Given the description of an element on the screen output the (x, y) to click on. 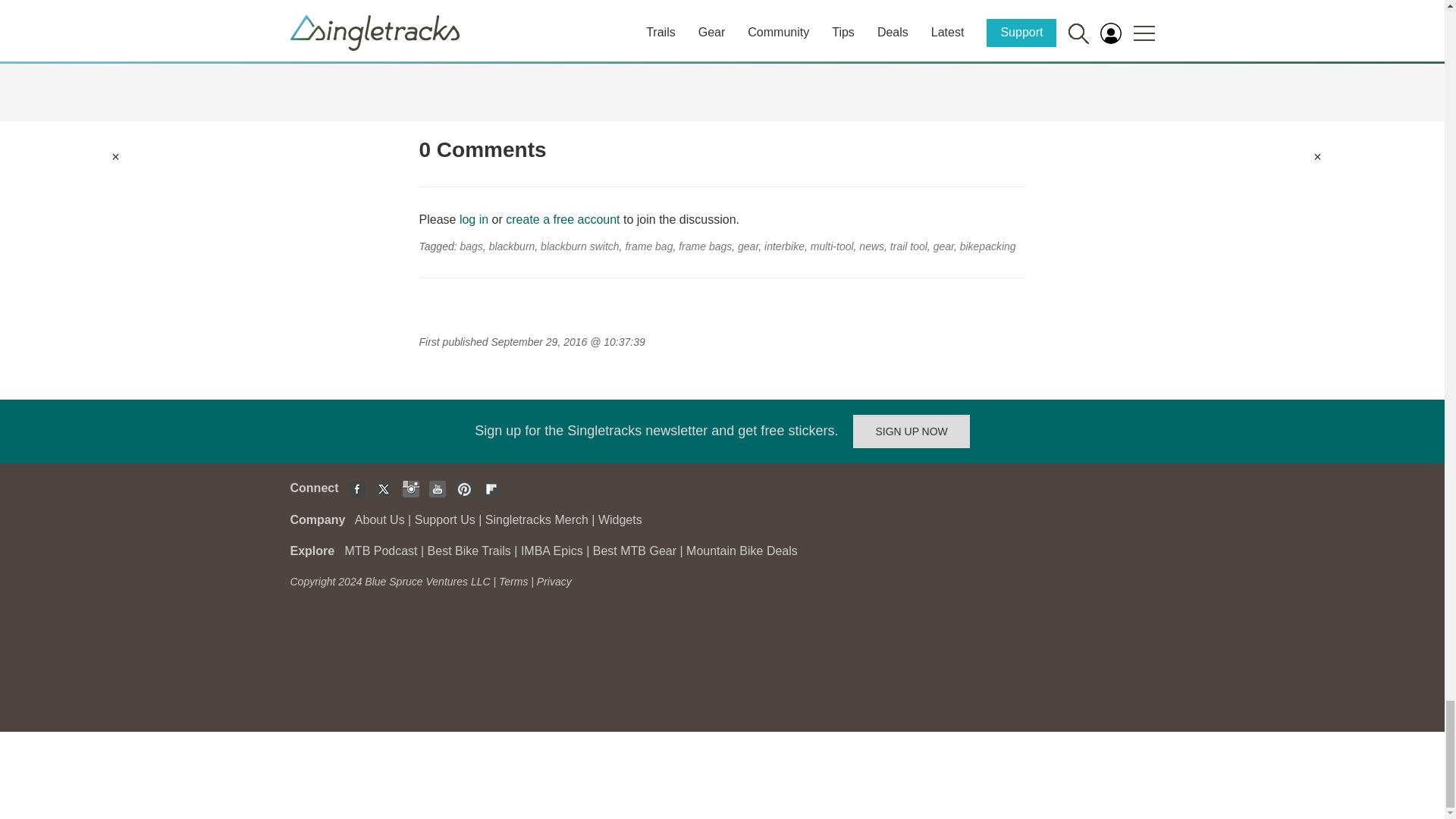
SIGN UP NOW (911, 430)
